Given the description of an element on the screen output the (x, y) to click on. 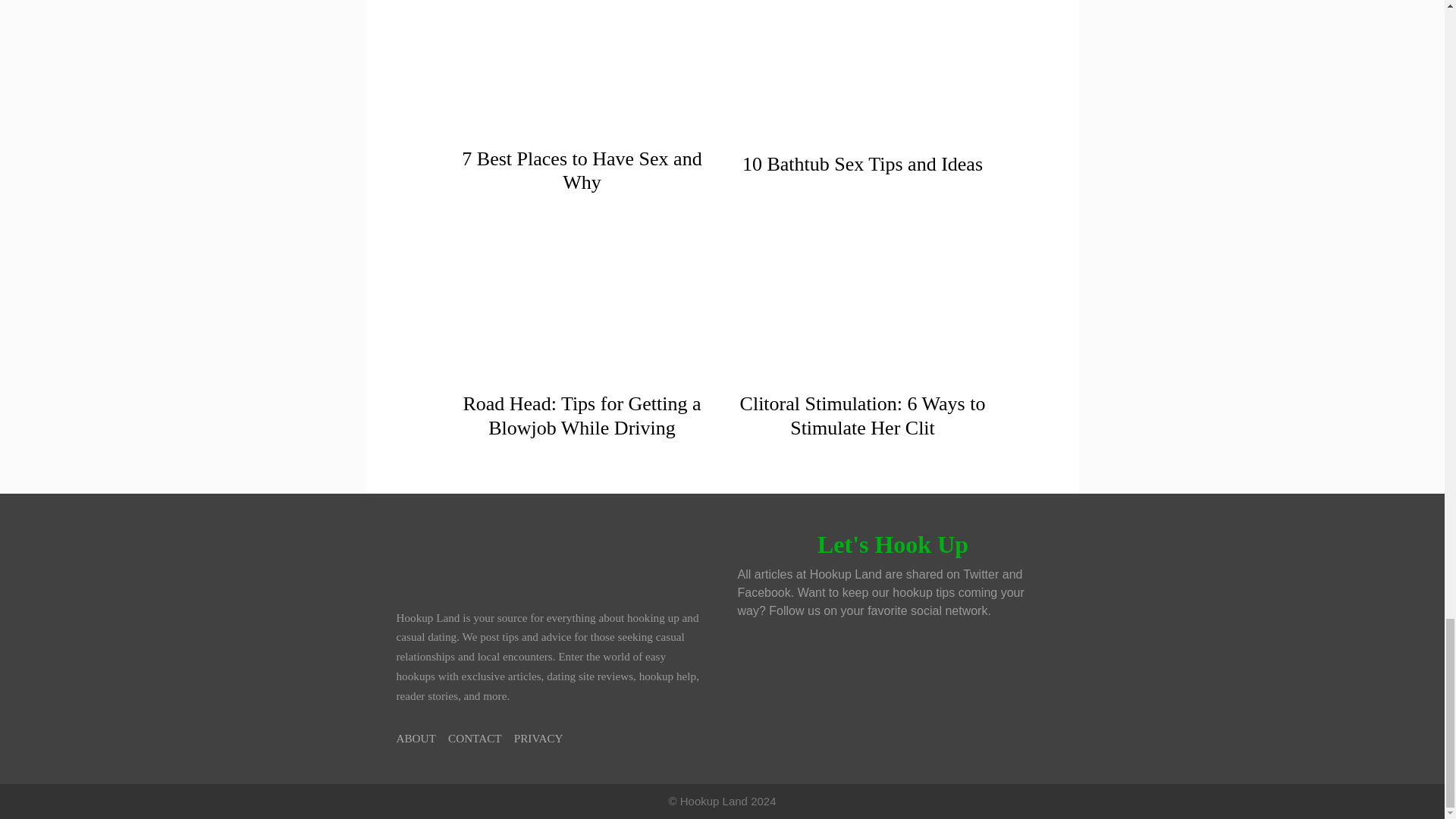
10 Bathtub Sex Tips and Ideas (862, 164)
7 Best Places to Have Sex and Why (581, 170)
